Given the description of an element on the screen output the (x, y) to click on. 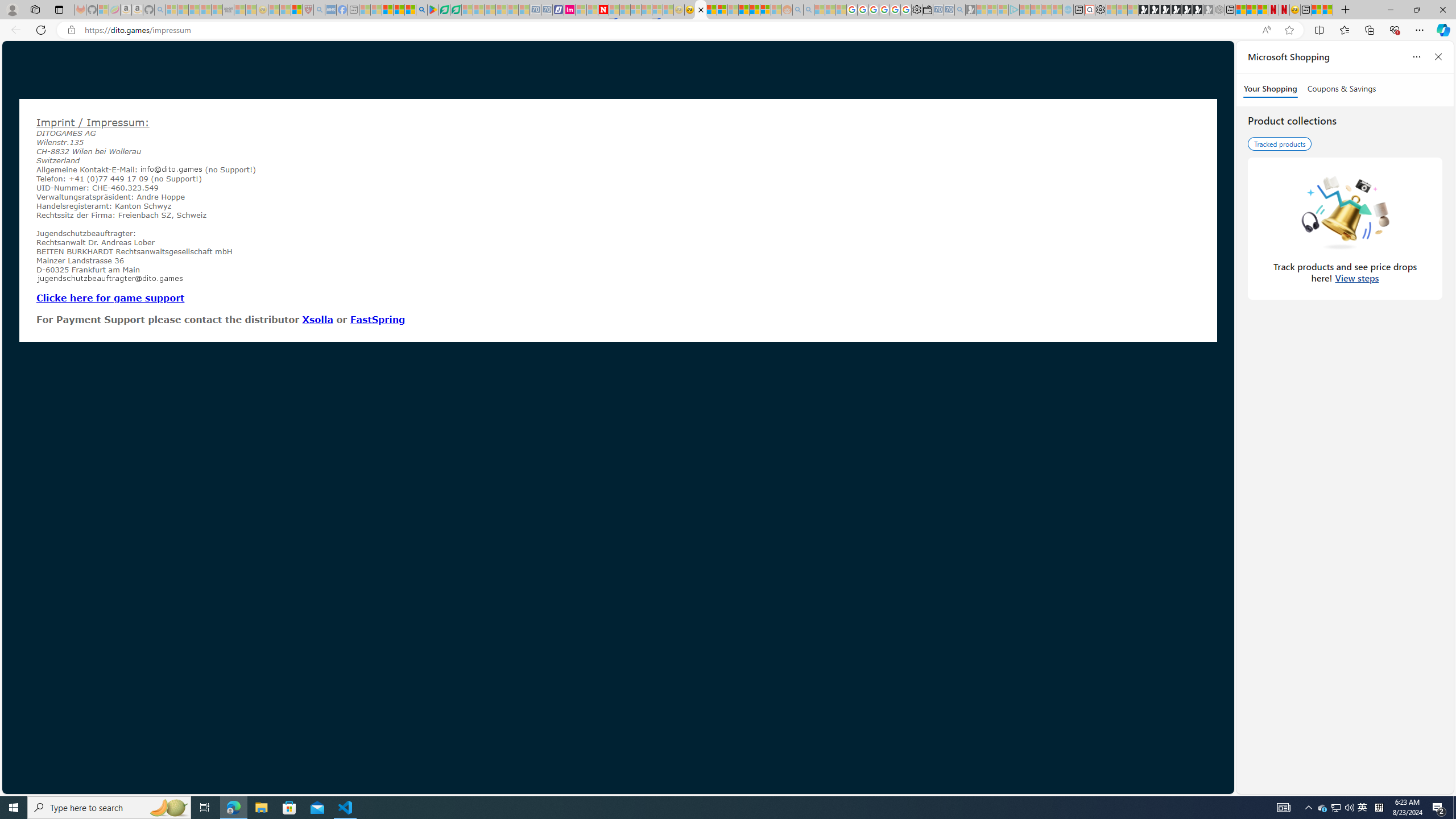
Clicke here for game support (110, 297)
Latest Politics News & Archive | Newsweek.com (602, 9)
